Given the description of an element on the screen output the (x, y) to click on. 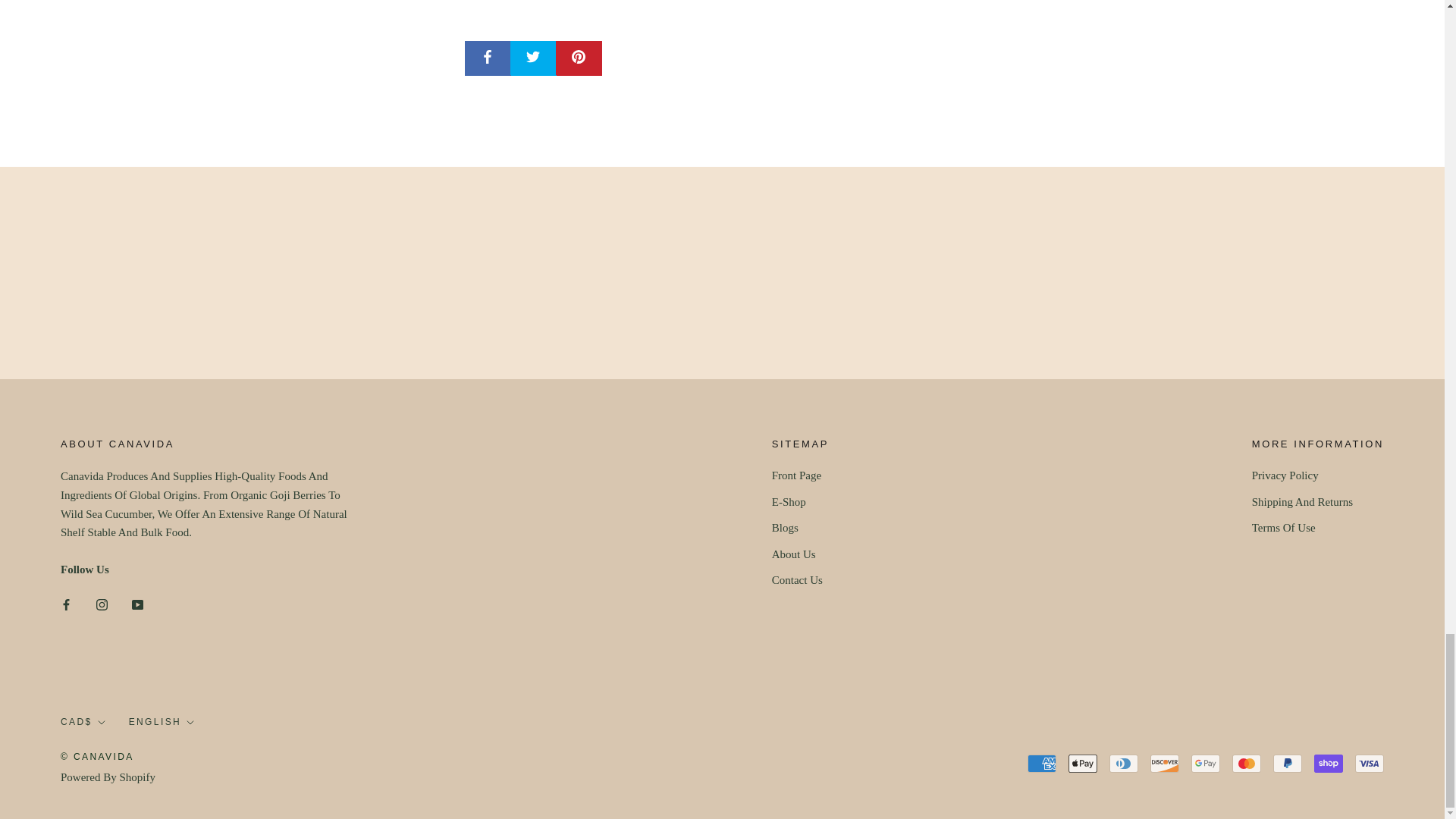
Diners Club (1123, 763)
Apple Pay (1082, 763)
Mastercard (1245, 763)
PayPal (1286, 763)
Discover (1164, 763)
American Express (1042, 763)
Google Pay (1205, 763)
